Given the description of an element on the screen output the (x, y) to click on. 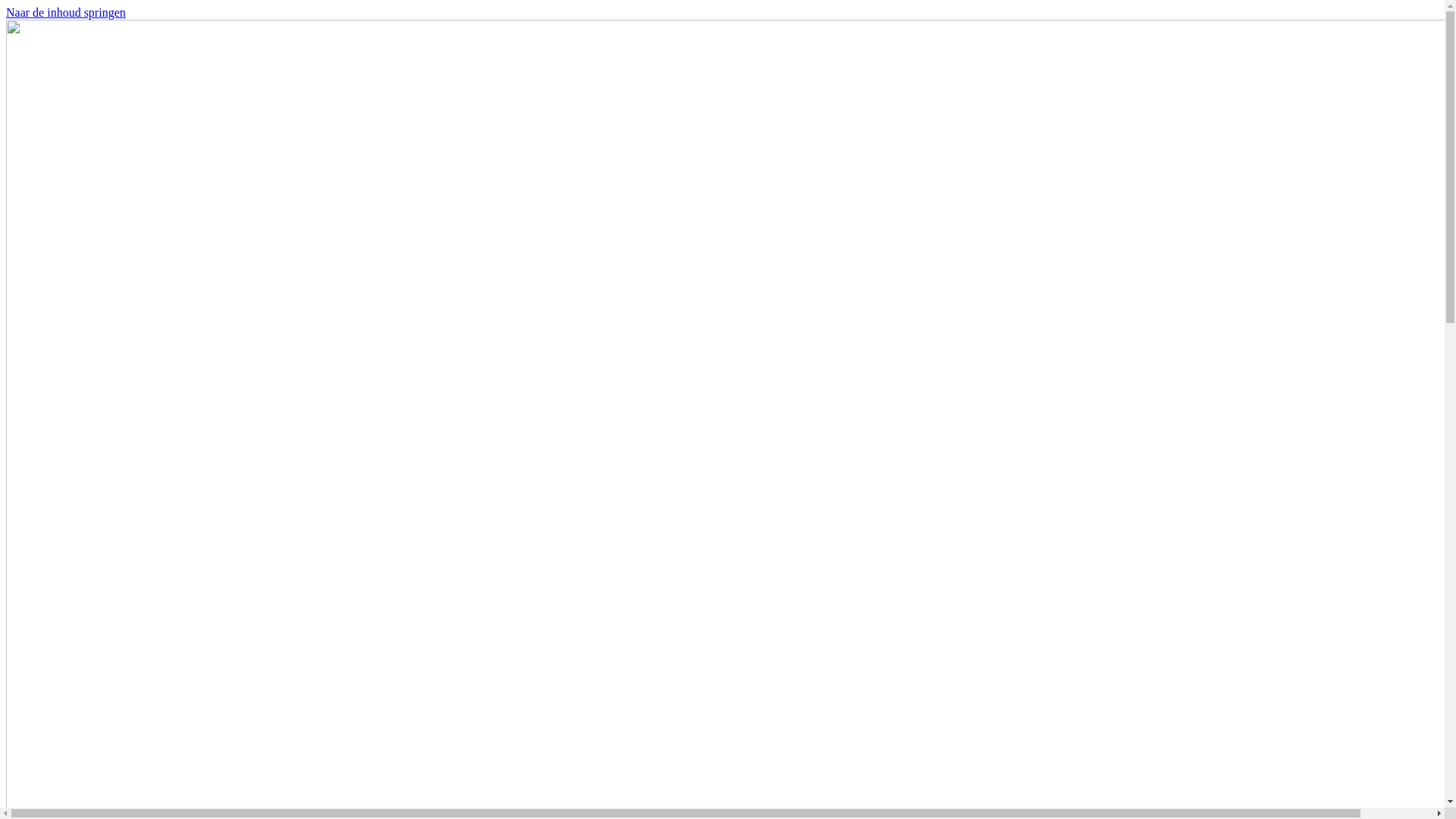
Naar de inhoud springen Element type: text (65, 12)
